Given the description of an element on the screen output the (x, y) to click on. 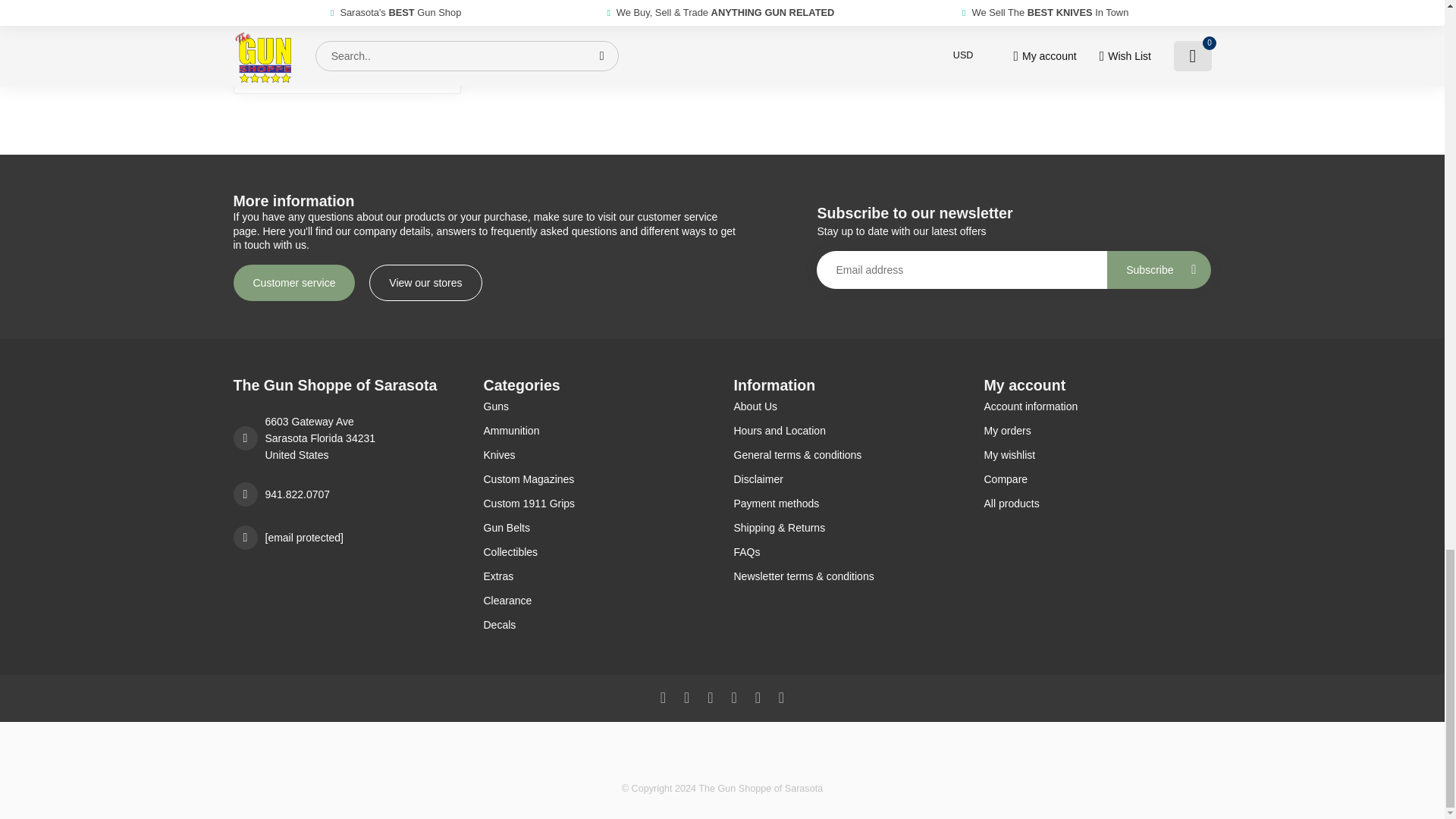
My orders (1097, 430)
Account information (1097, 405)
Hours and Location (846, 430)
All products (1097, 503)
Compare (1097, 478)
1 (387, 66)
Disclaimer (846, 478)
My wishlist (1097, 454)
Payment methods (846, 503)
FAQs (846, 551)
